Given the description of an element on the screen output the (x, y) to click on. 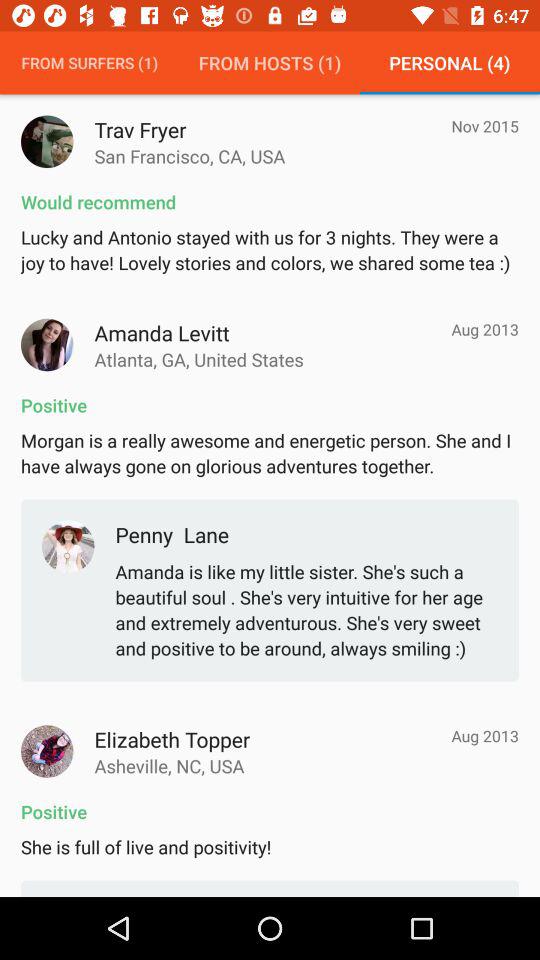
picture next to the name (47, 344)
